Given the description of an element on the screen output the (x, y) to click on. 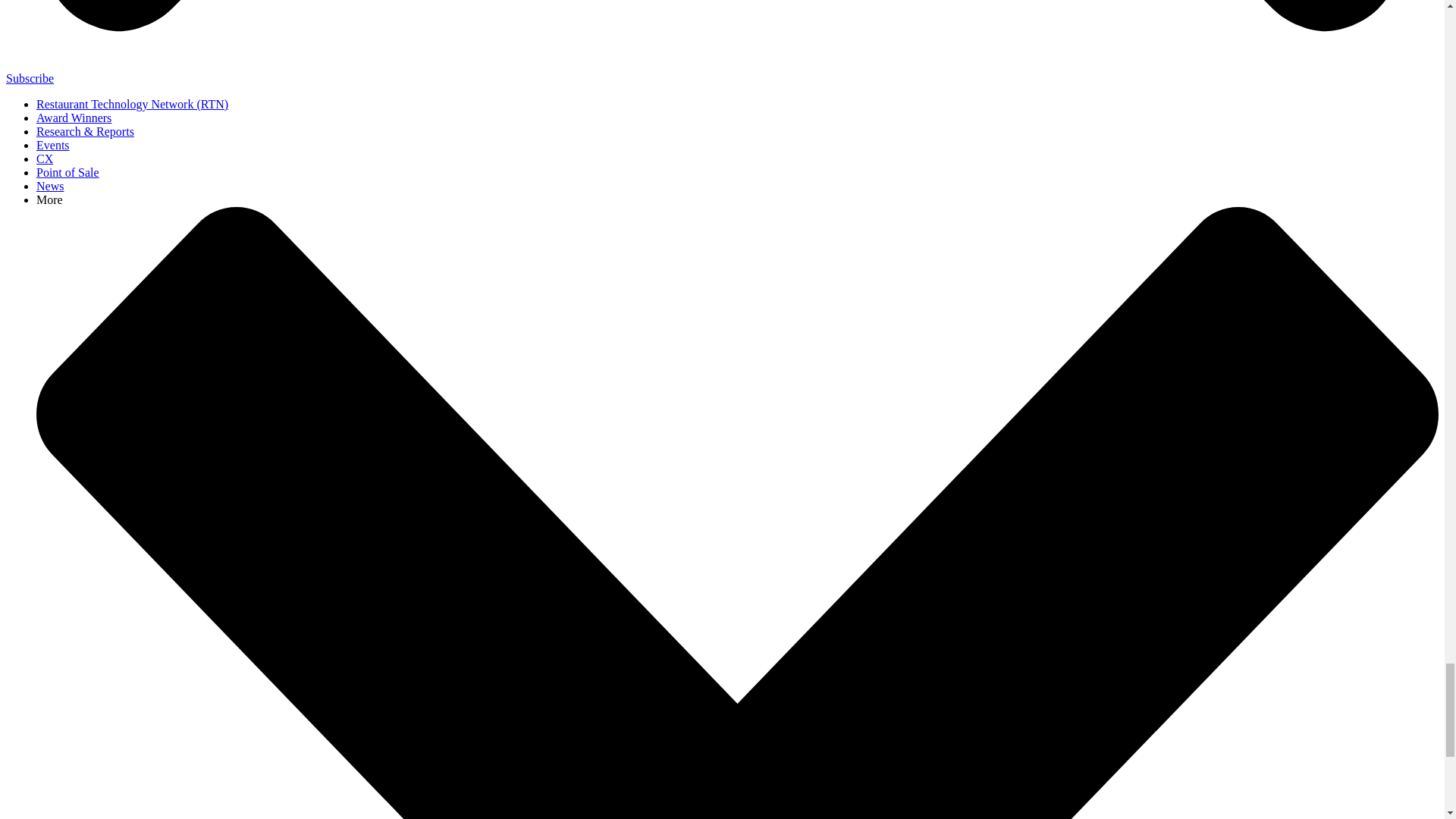
CX (44, 158)
More (49, 199)
Subscribe (29, 78)
Point of Sale (67, 172)
Events (52, 144)
News (50, 185)
Award Winners (74, 117)
